Given the description of an element on the screen output the (x, y) to click on. 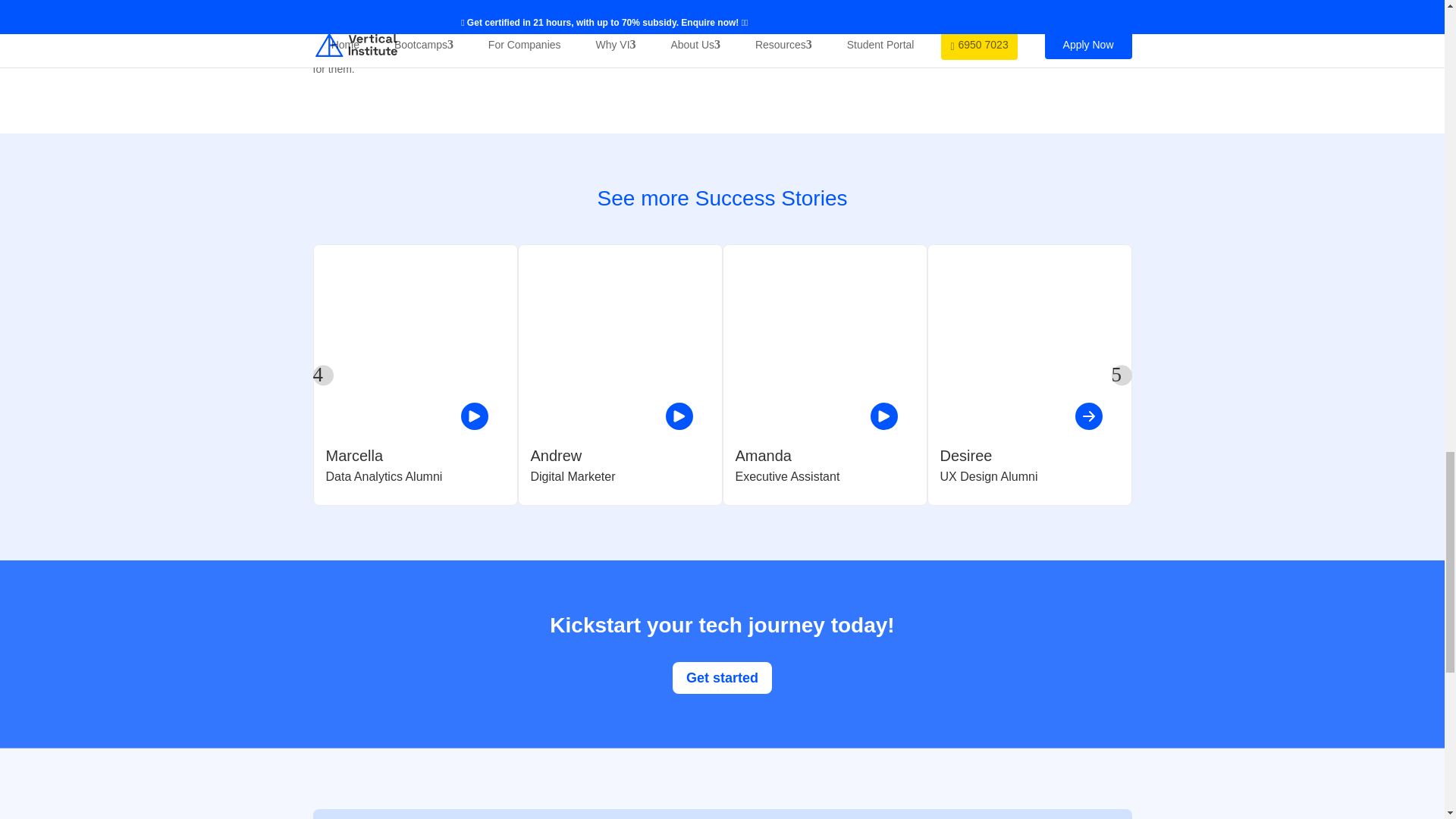
Get started (721, 676)
